Given the description of an element on the screen output the (x, y) to click on. 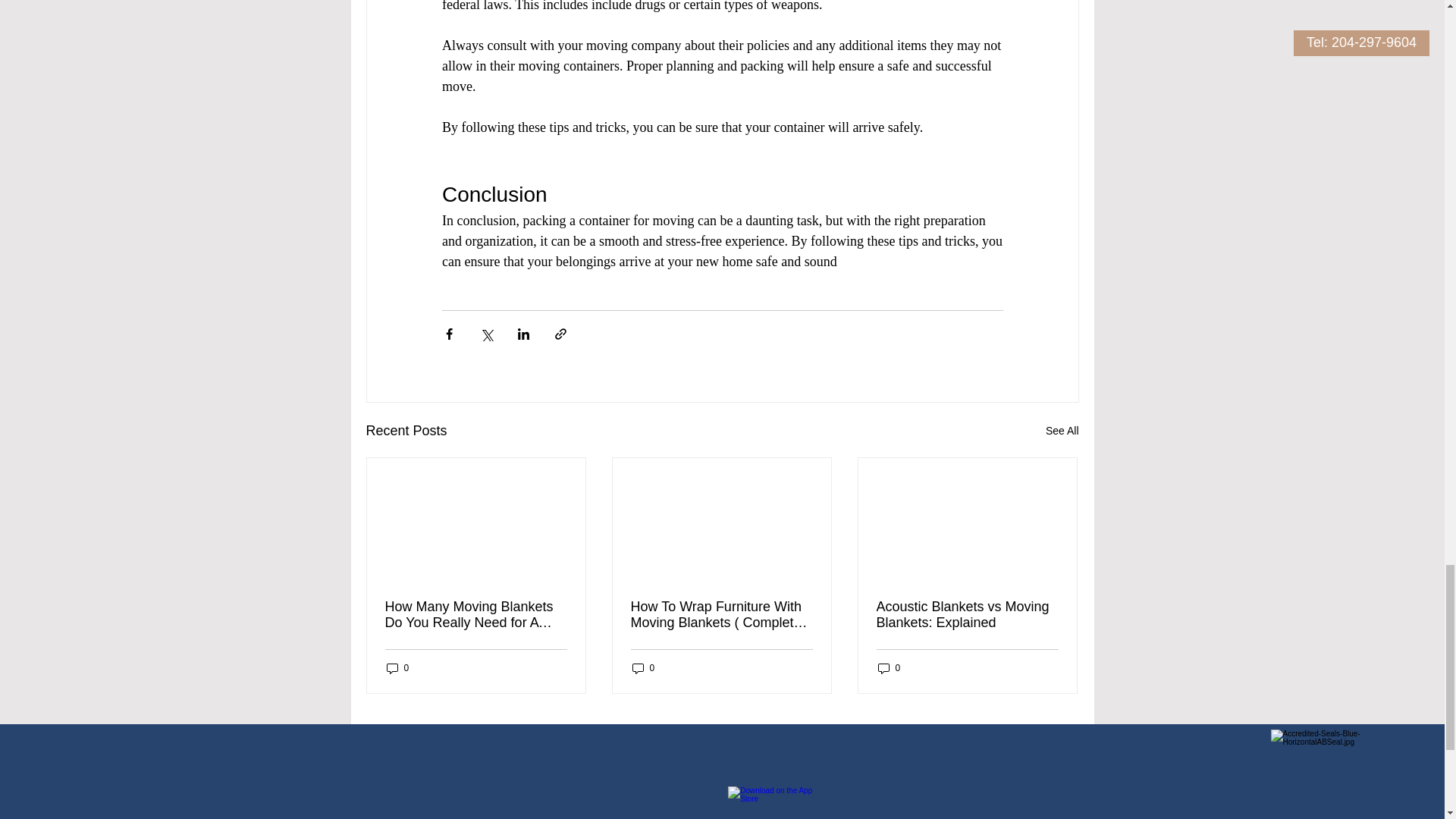
Acoustic Blankets vs Moving Blankets: Explained (967, 614)
0 (889, 667)
See All (1061, 431)
0 (643, 667)
0 (397, 667)
